Given the description of an element on the screen output the (x, y) to click on. 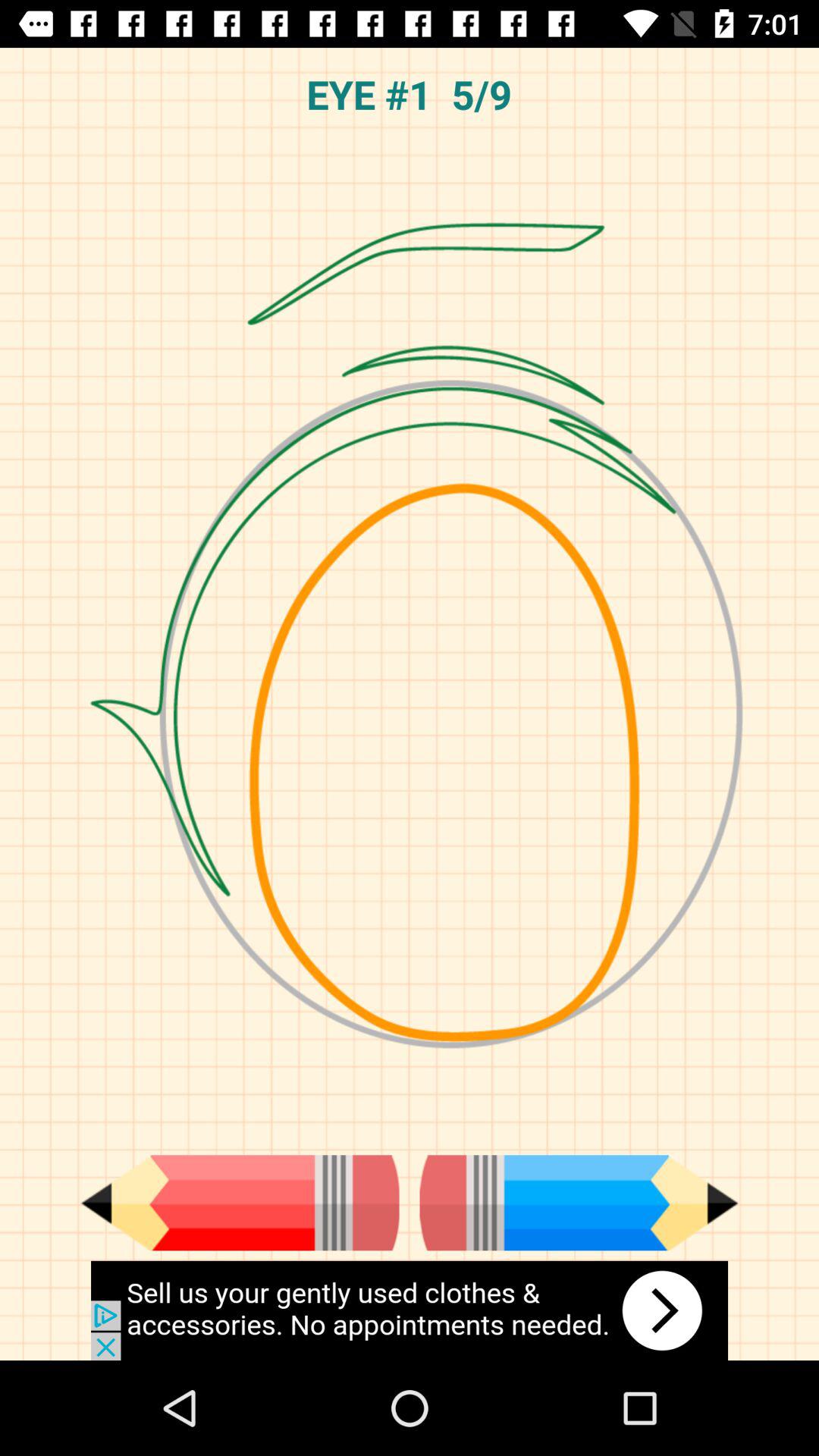
previous color (239, 1202)
